Given the description of an element on the screen output the (x, y) to click on. 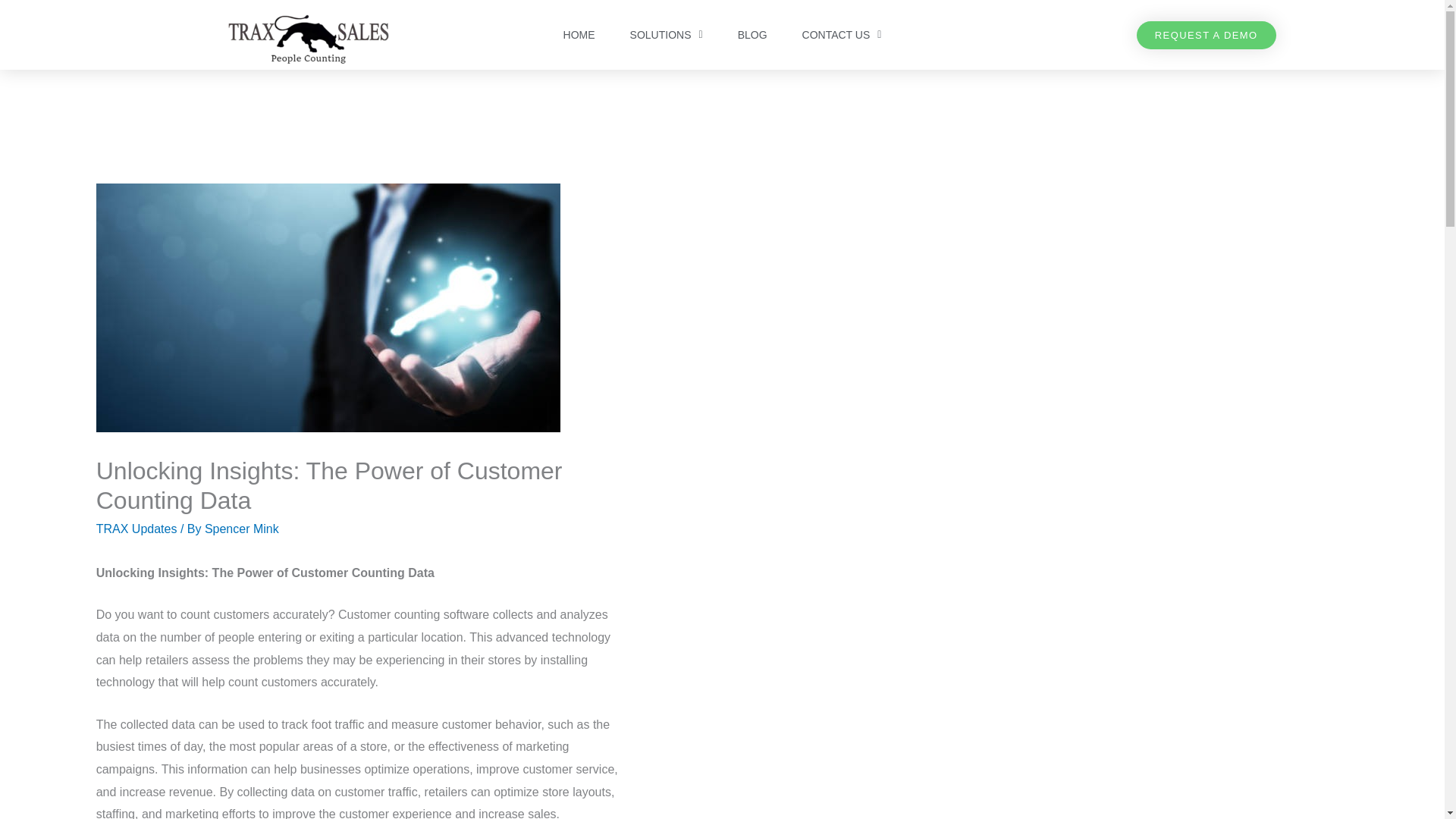
HOME (579, 34)
CONTACT US (841, 34)
View all posts by Spencer Mink (242, 528)
REQUEST A DEMO (1206, 35)
SOLUTIONS (665, 34)
